Given the description of an element on the screen output the (x, y) to click on. 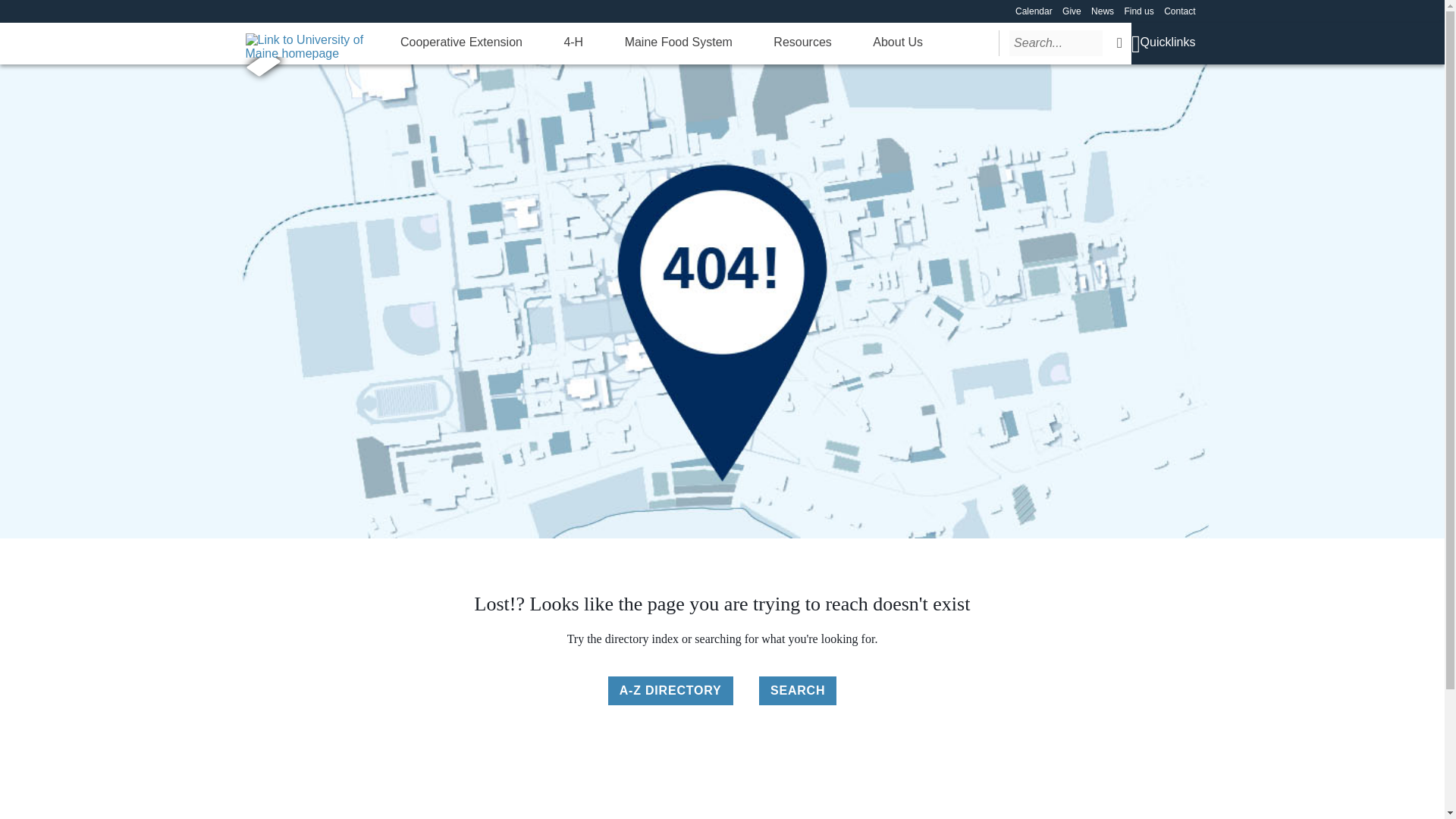
Calendar (1033, 10)
Maine Food System (678, 42)
Search (1119, 42)
4-H (573, 42)
Cooperative Extension (461, 42)
Search for: (1055, 43)
Find us (1138, 10)
Give (1071, 10)
Contact (1179, 10)
News (1101, 10)
